Given the description of an element on the screen output the (x, y) to click on. 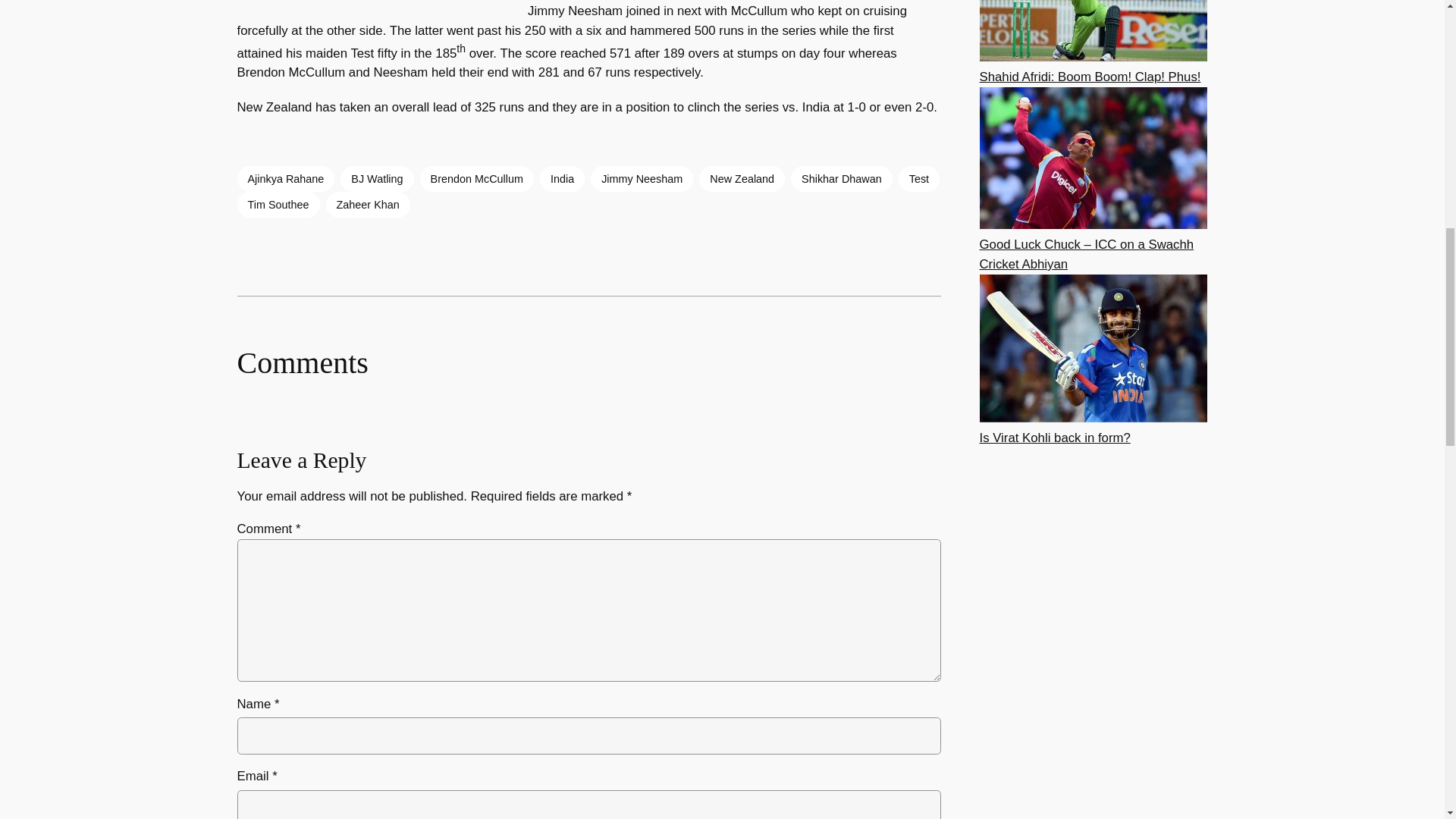
Brendon McCullum (477, 178)
Ajinkya Rahane (284, 178)
Is Virat Kohli back in form? (1055, 437)
Shahid Afridi: Boom Boom! Clap! Phus! (1090, 76)
Tim Southee (276, 204)
BJ Watling (376, 178)
New Zealand (741, 178)
Zaheer Khan (368, 204)
Shikhar Dhawan (841, 178)
India (562, 178)
